Given the description of an element on the screen output the (x, y) to click on. 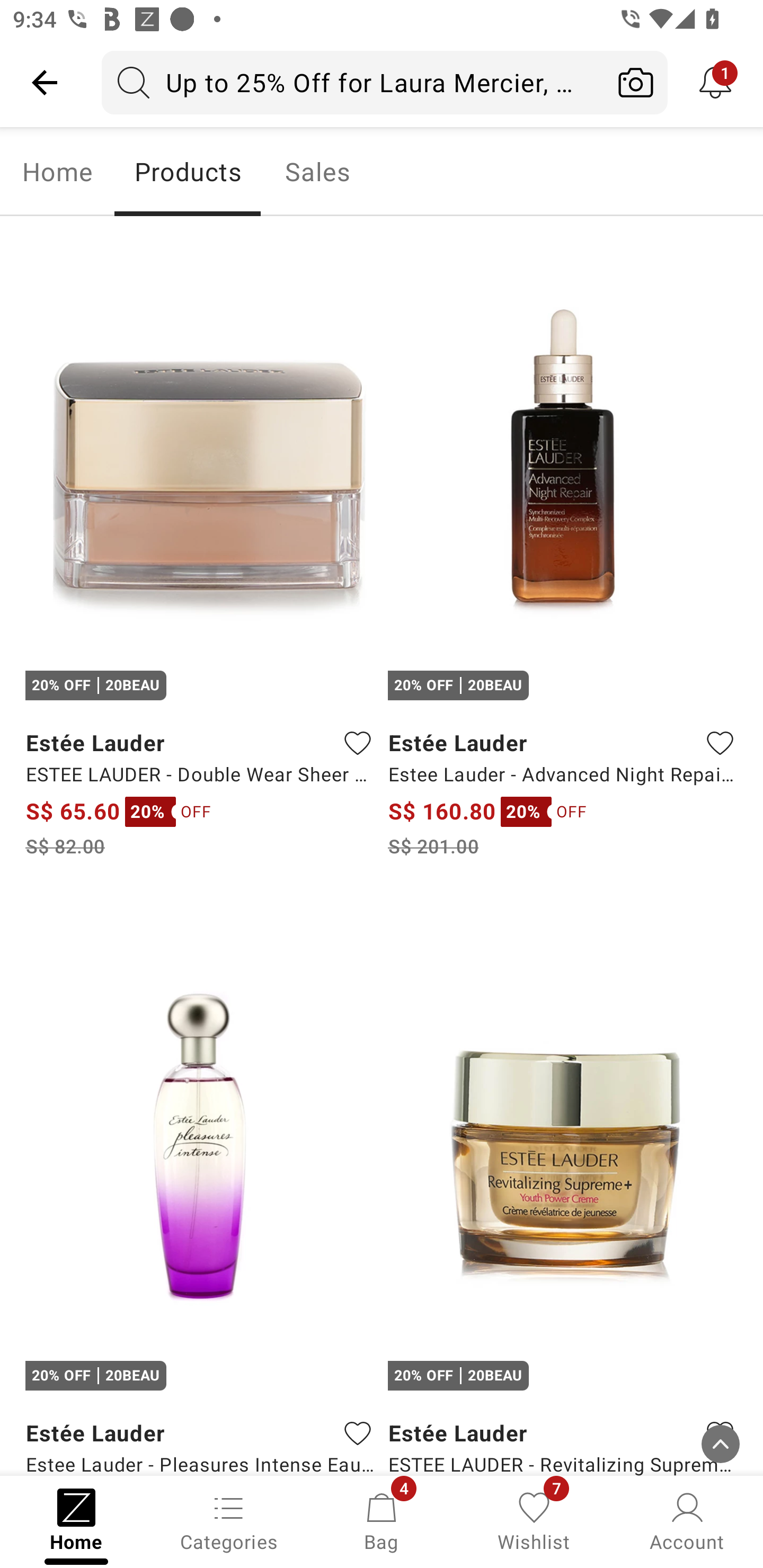
Navigate up (44, 82)
Home (57, 171)
Sales (317, 171)
Categories (228, 1519)
Bag, 4 new notifications Bag (381, 1519)
Wishlist, 7 new notifications Wishlist (533, 1519)
Account (686, 1519)
